Given the description of an element on the screen output the (x, y) to click on. 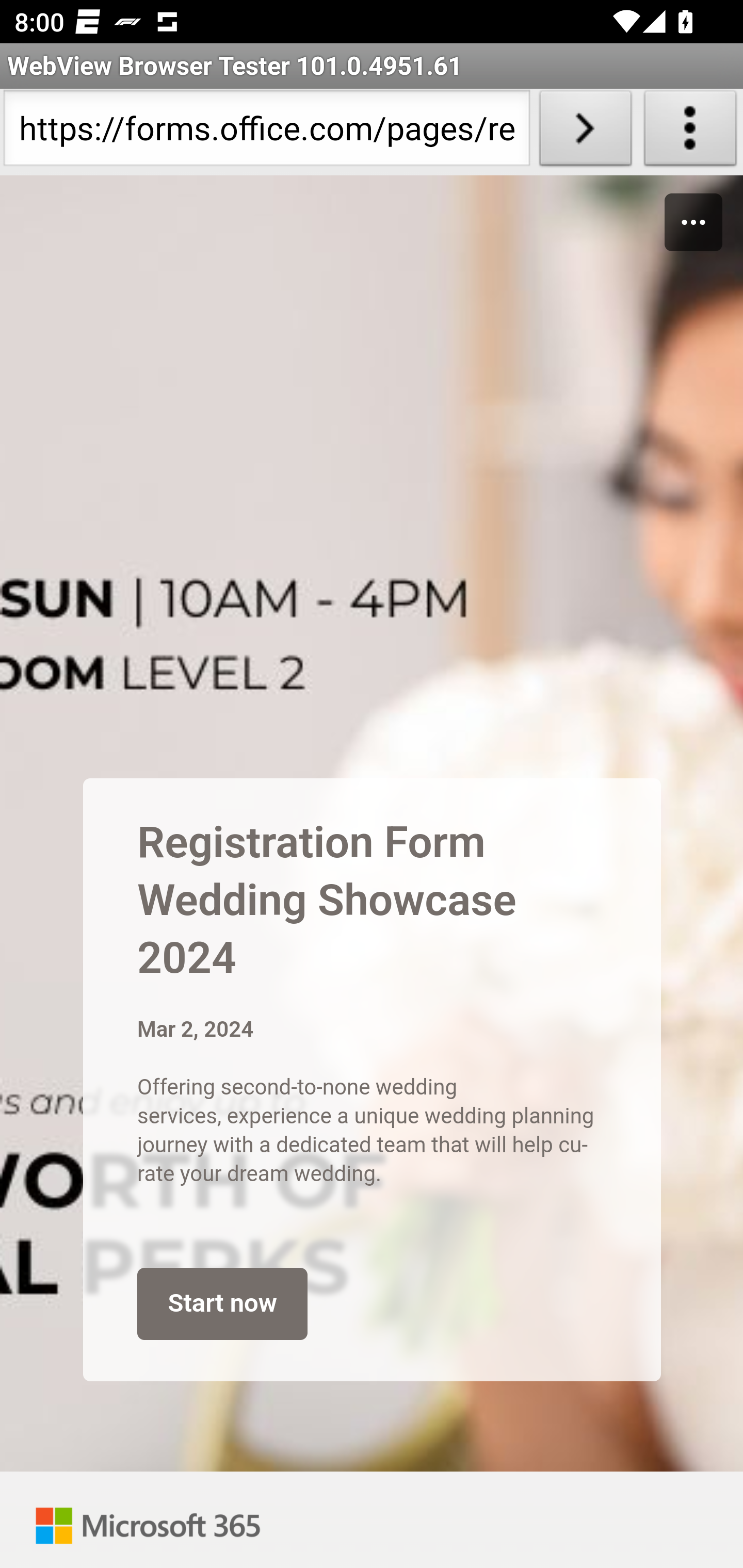
Load URL (585, 132)
About WebView (690, 132)
Microsoft 365 (148, 1519)
